Given the description of an element on the screen output the (x, y) to click on. 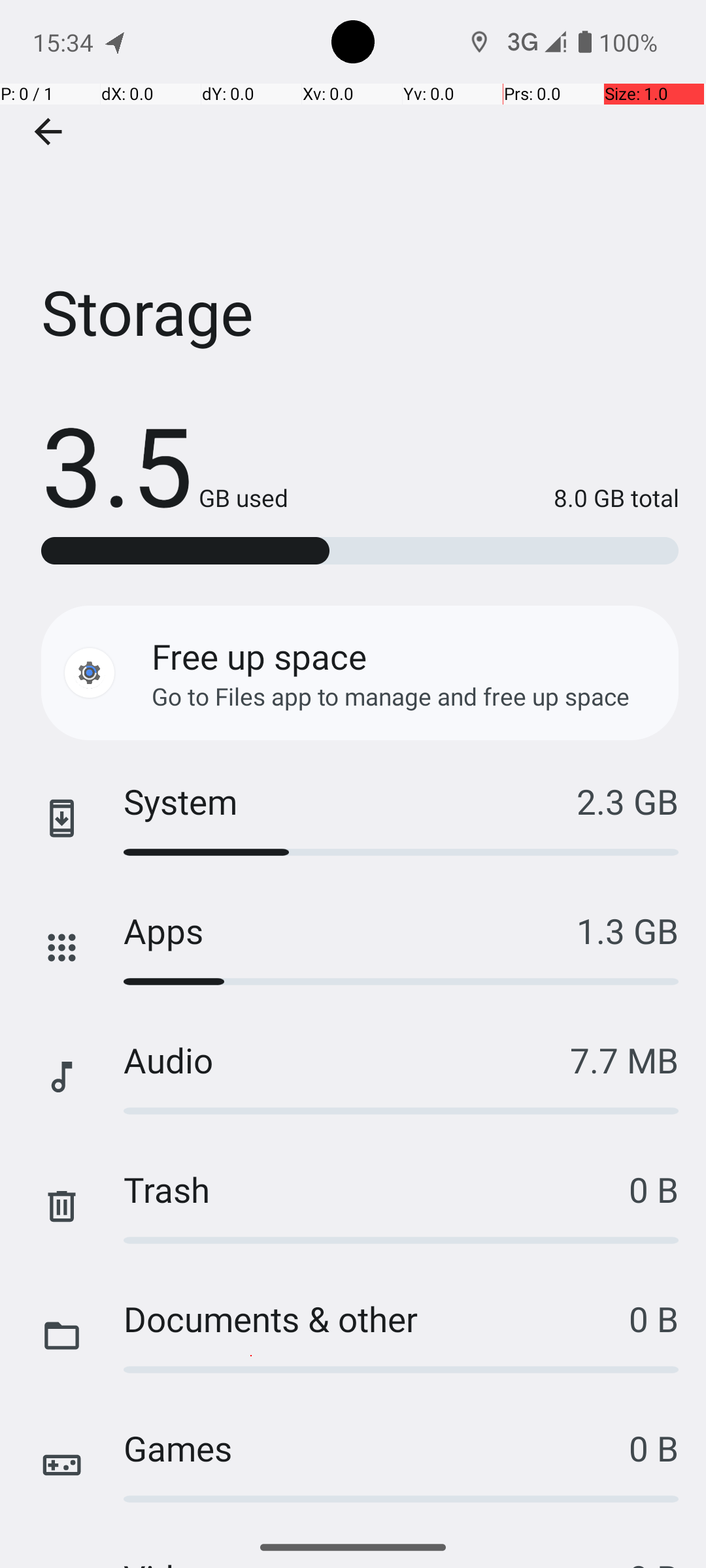
3.5 GB used Element type: android.widget.TextView (164, 463)
8.0 GB total Element type: android.widget.TextView (483, 497)
Free up space Element type: android.widget.TextView (258, 656)
Go to Files app to manage and free up space Element type: android.widget.TextView (390, 695)
2.3 GB Element type: android.widget.TextView (627, 801)
1.3 GB Element type: android.widget.TextView (627, 930)
7.7 MB Element type: android.widget.TextView (624, 1059)
Trash Element type: android.widget.TextView (375, 1189)
0 B Element type: android.widget.TextView (653, 1189)
Documents & other Element type: android.widget.TextView (375, 1318)
Games Element type: android.widget.TextView (375, 1447)
